Given the description of an element on the screen output the (x, y) to click on. 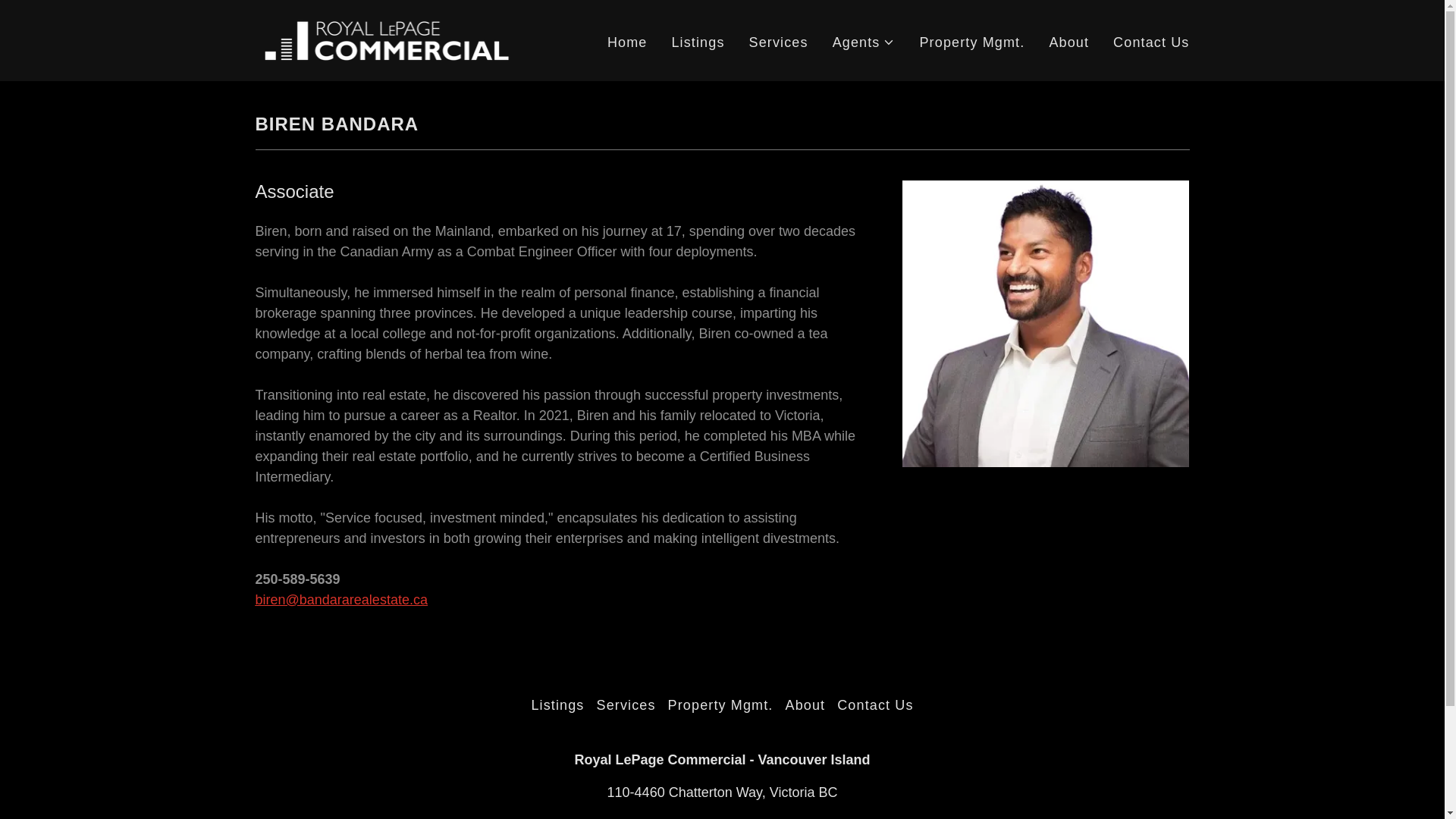
Home (627, 41)
Contact Us (1150, 41)
Services (778, 41)
Listings (697, 41)
About (1068, 41)
Royal LePage Commercial   (386, 38)
Property Mgmt. (971, 41)
Agents (863, 41)
